Given the description of an element on the screen output the (x, y) to click on. 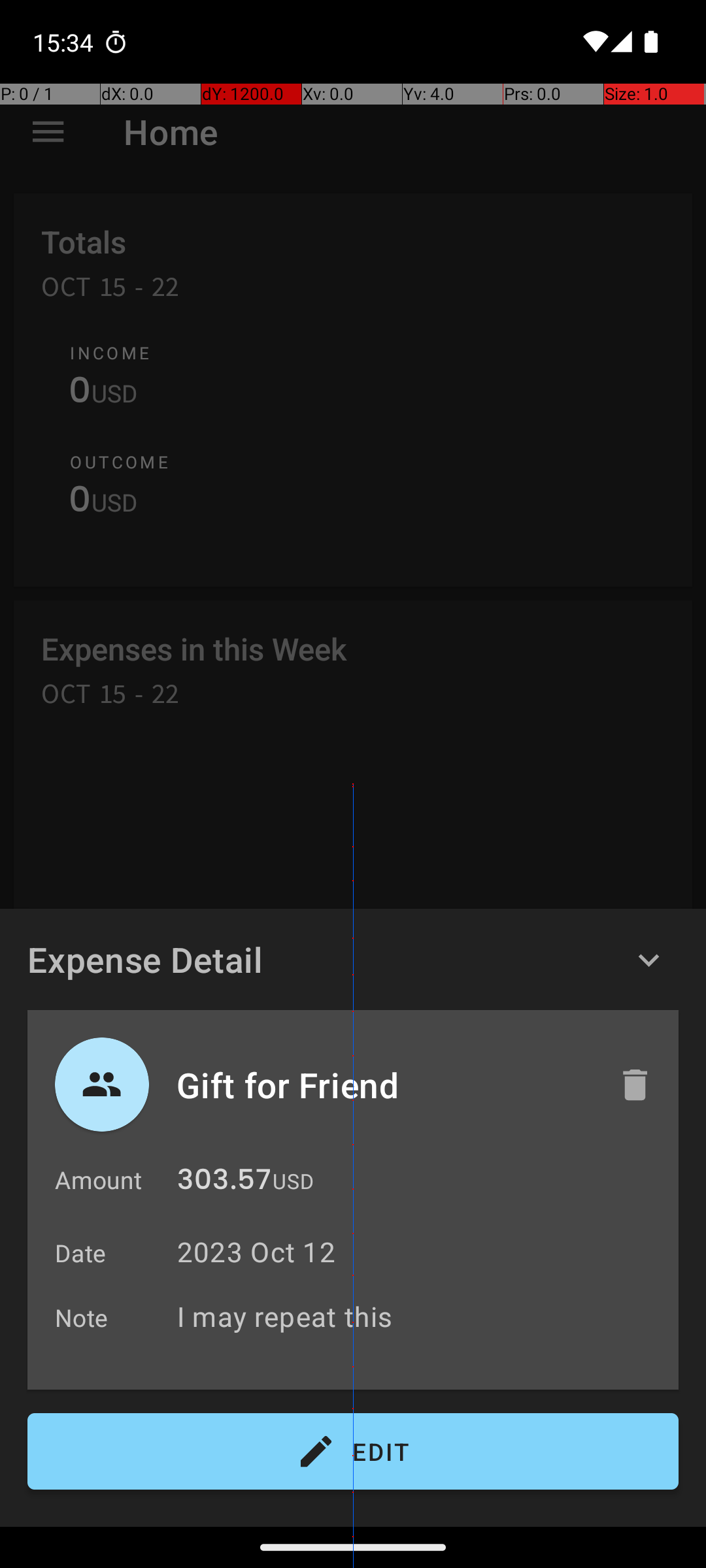
303.57 Element type: android.widget.TextView (223, 1182)
